Given the description of an element on the screen output the (x, y) to click on. 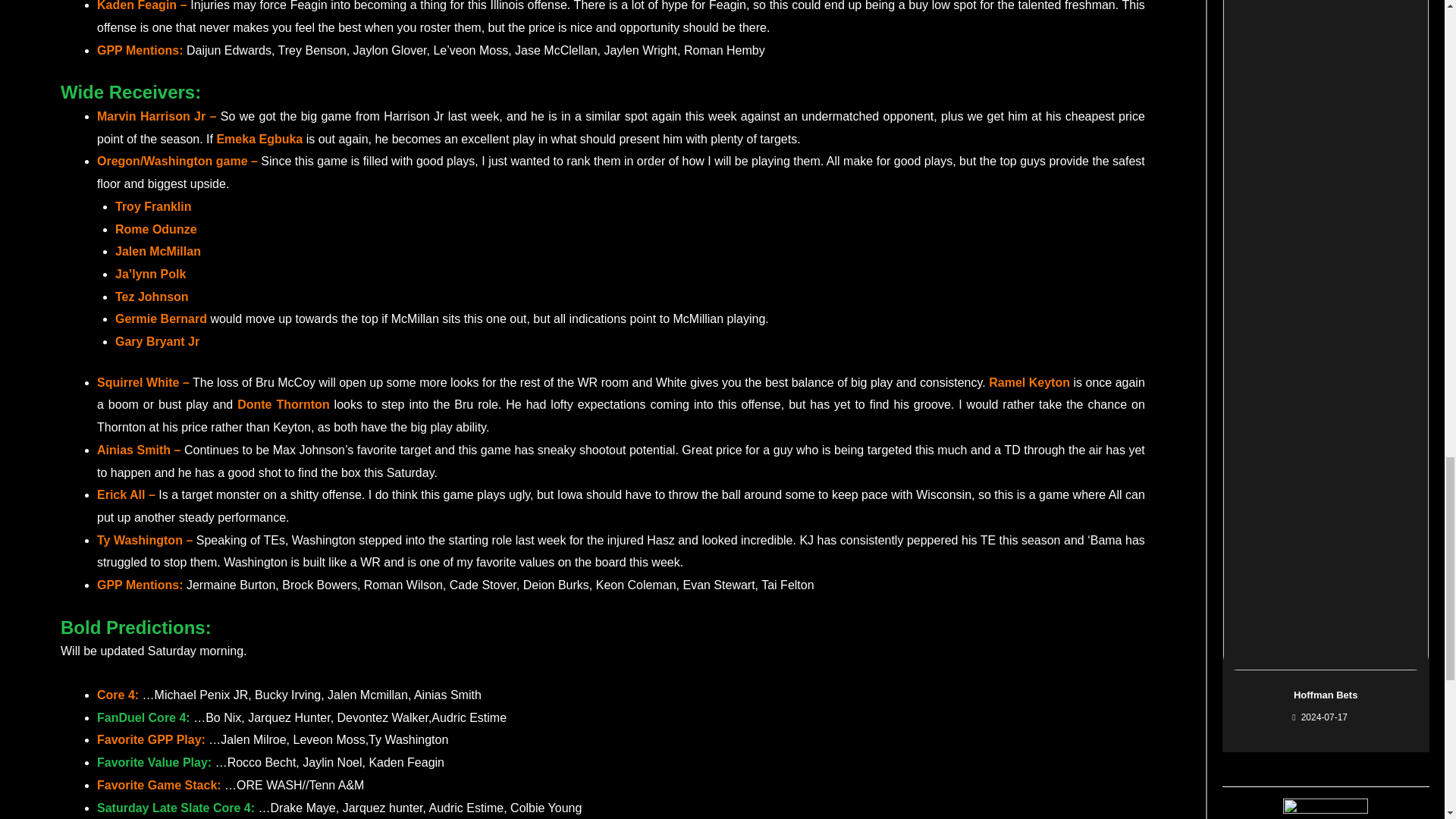
Hoffman Bets (1326, 695)
